Given the description of an element on the screen output the (x, y) to click on. 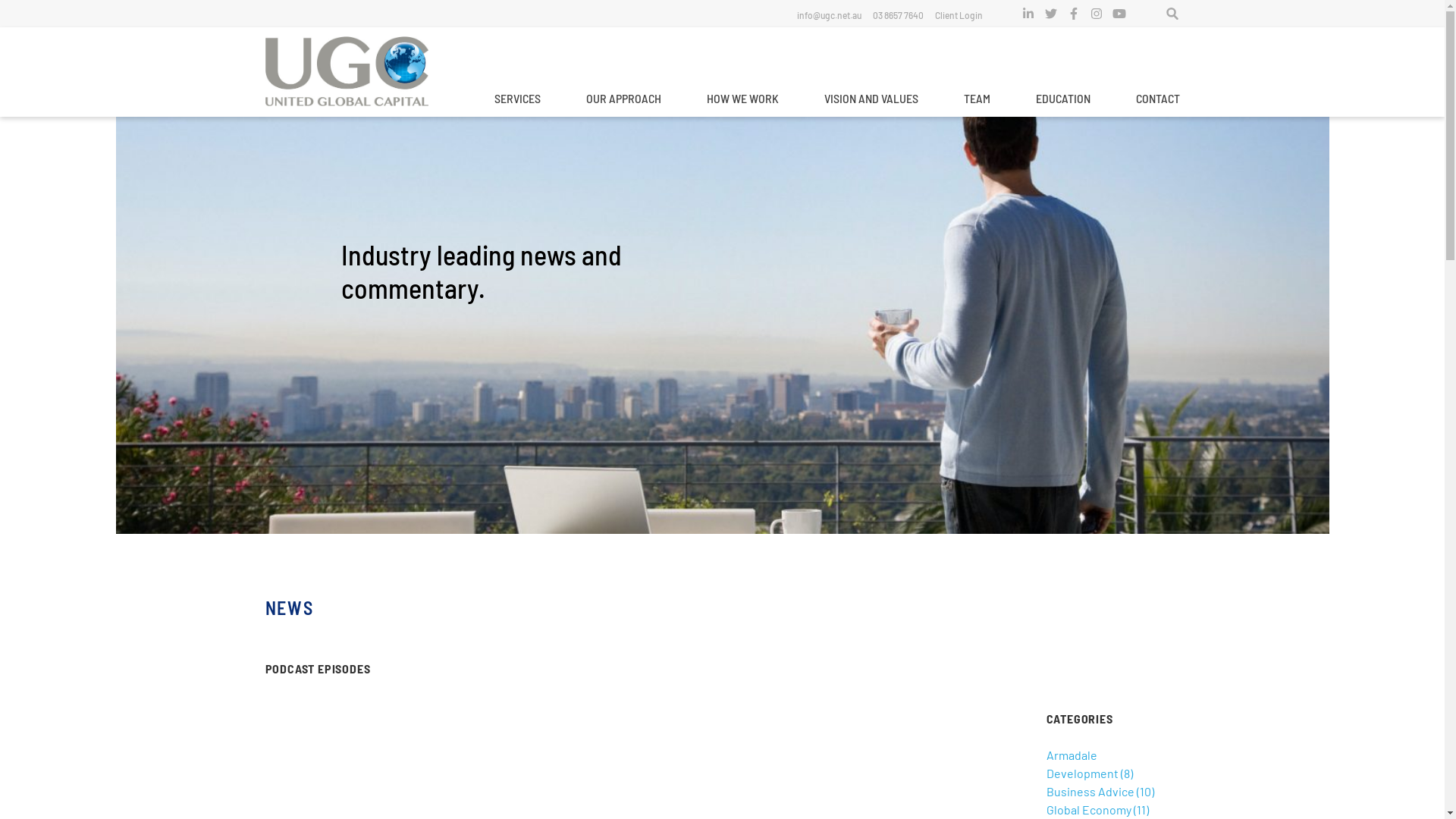
Business Advice (10) Element type: text (1100, 791)
EDUCATION Element type: text (1062, 99)
03 8657 7640 Element type: text (897, 14)
Client Login Element type: text (958, 14)
OUR APPROACH Element type: text (622, 99)
SERVICES Element type: text (517, 99)
Global Economy (11) Element type: text (1097, 809)
Search the website Element type: hover (1171, 13)
View United Global Capital's Facebook Page Element type: hover (1073, 13)
View United Global Capital's Instagram Page Element type: hover (1096, 13)
HOW WE WORK Element type: text (742, 99)
View United Global Capital's Twitter Page Element type: hover (1050, 13)
TEAM Element type: text (976, 99)
View United Global Capital's LinkedIn Page Element type: hover (1027, 13)
CONTACT Element type: text (1157, 99)
VISION AND VALUES Element type: text (870, 99)
View United Global Capital's YouTube Page Element type: hover (1118, 13)
Armadale Development (8) Element type: text (1089, 763)
info@ugc.net.au Element type: text (828, 14)
